Given the description of an element on the screen output the (x, y) to click on. 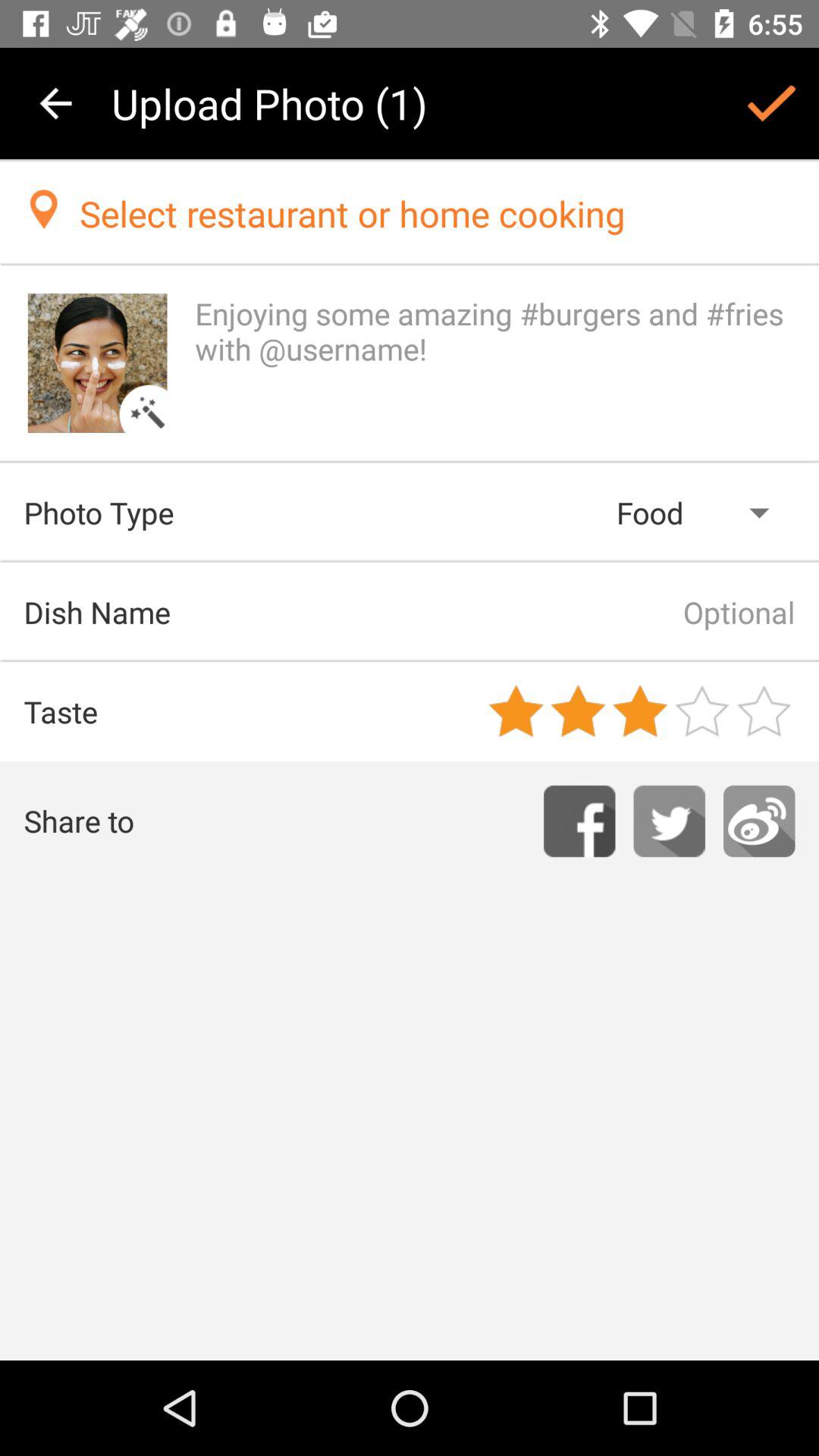
share to app (759, 821)
